Given the description of an element on the screen output the (x, y) to click on. 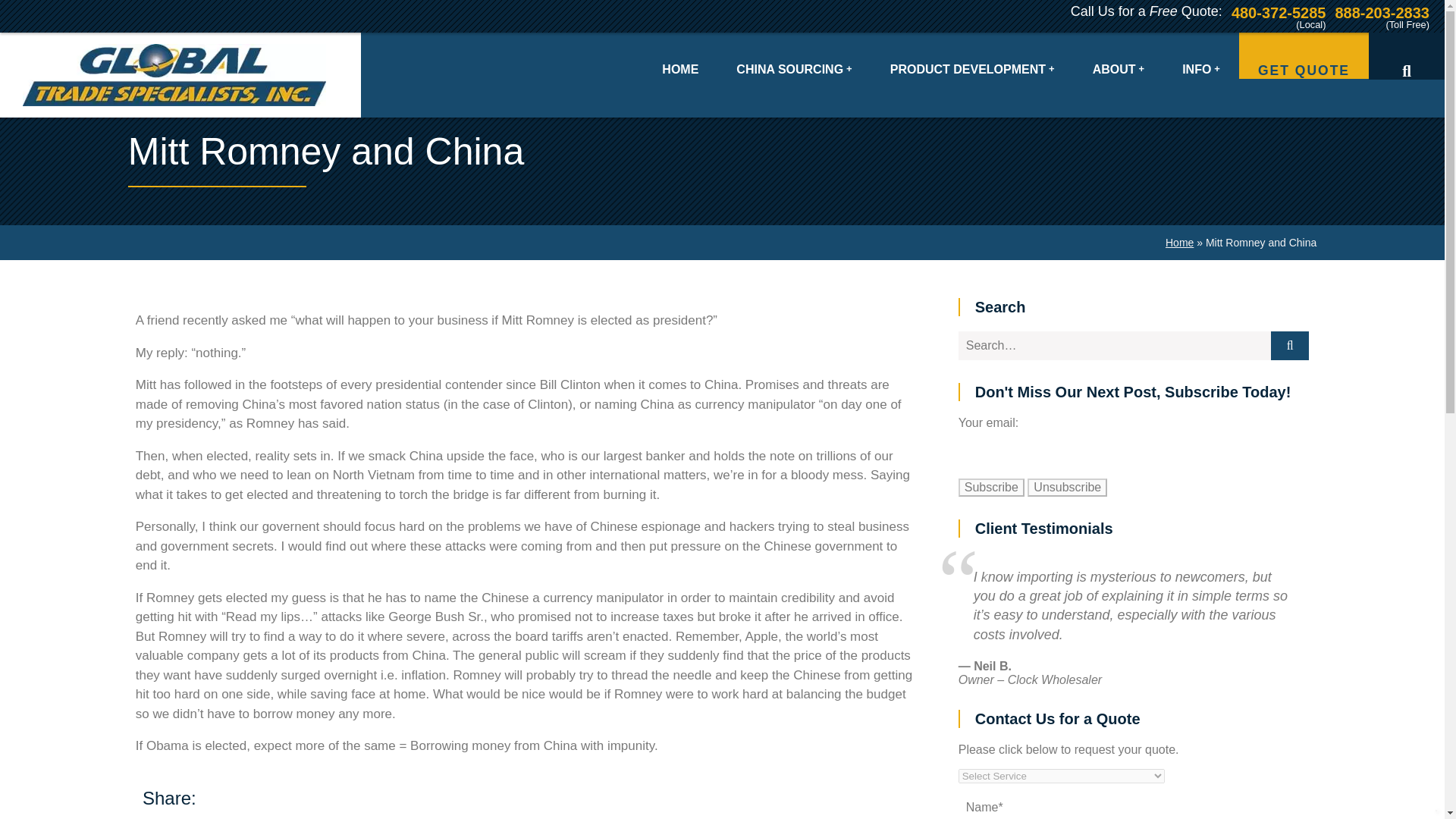
Global Trade Specialists Home (188, 75)
Search for: (1114, 345)
Home (1179, 242)
Search the site (1406, 55)
888-203-2833 (1382, 11)
INFO (1201, 54)
ABOUT (1118, 54)
480-372-5285 (1278, 11)
CHINA SOURCING (793, 54)
Call Global Trade Specialists (1278, 11)
